Given the description of an element on the screen output the (x, y) to click on. 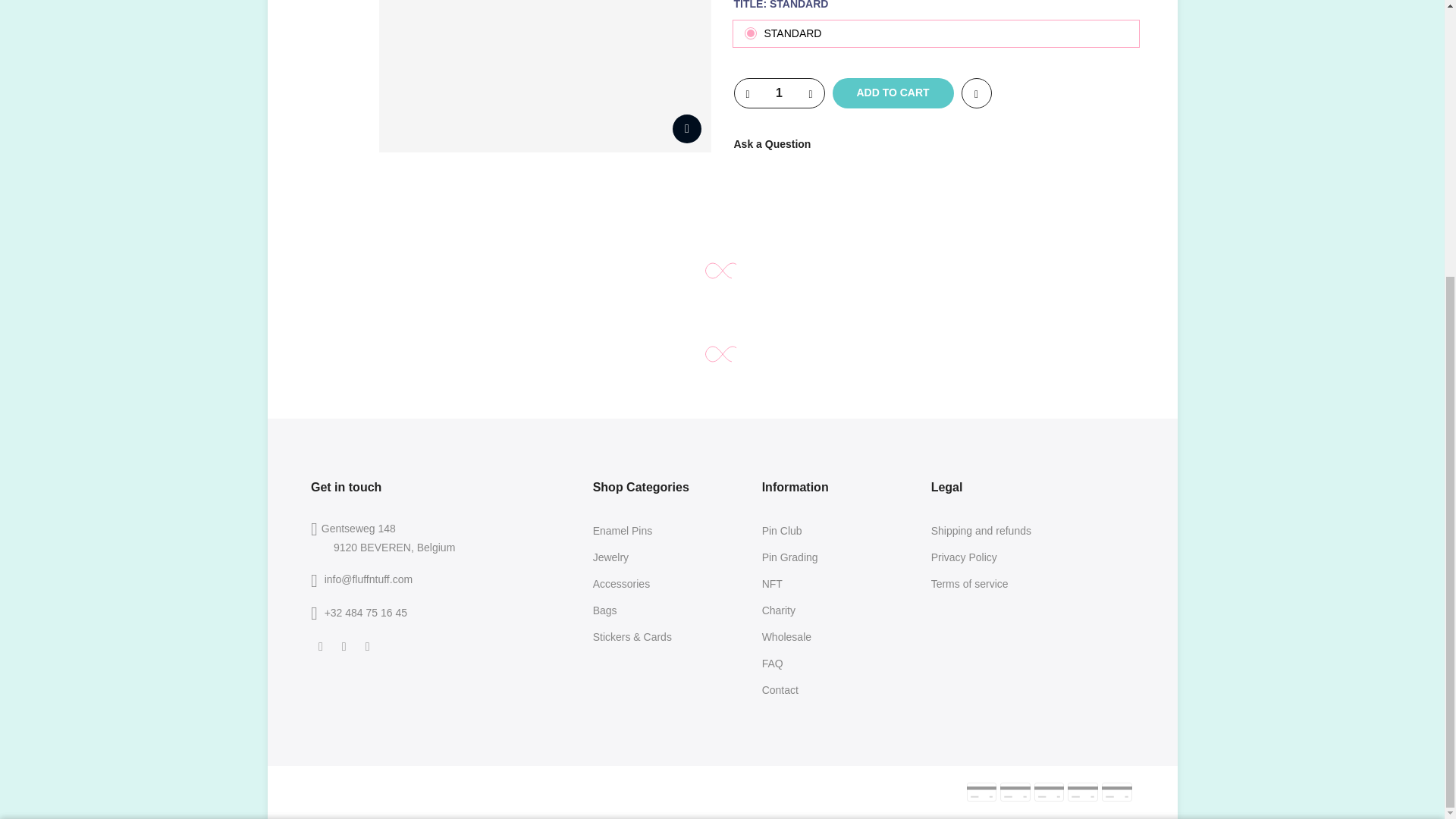
Enamel Pins (622, 530)
1 (969, 444)
Ask a Question (771, 143)
ADD TO CART (892, 92)
1 (778, 92)
